Given the description of an element on the screen output the (x, y) to click on. 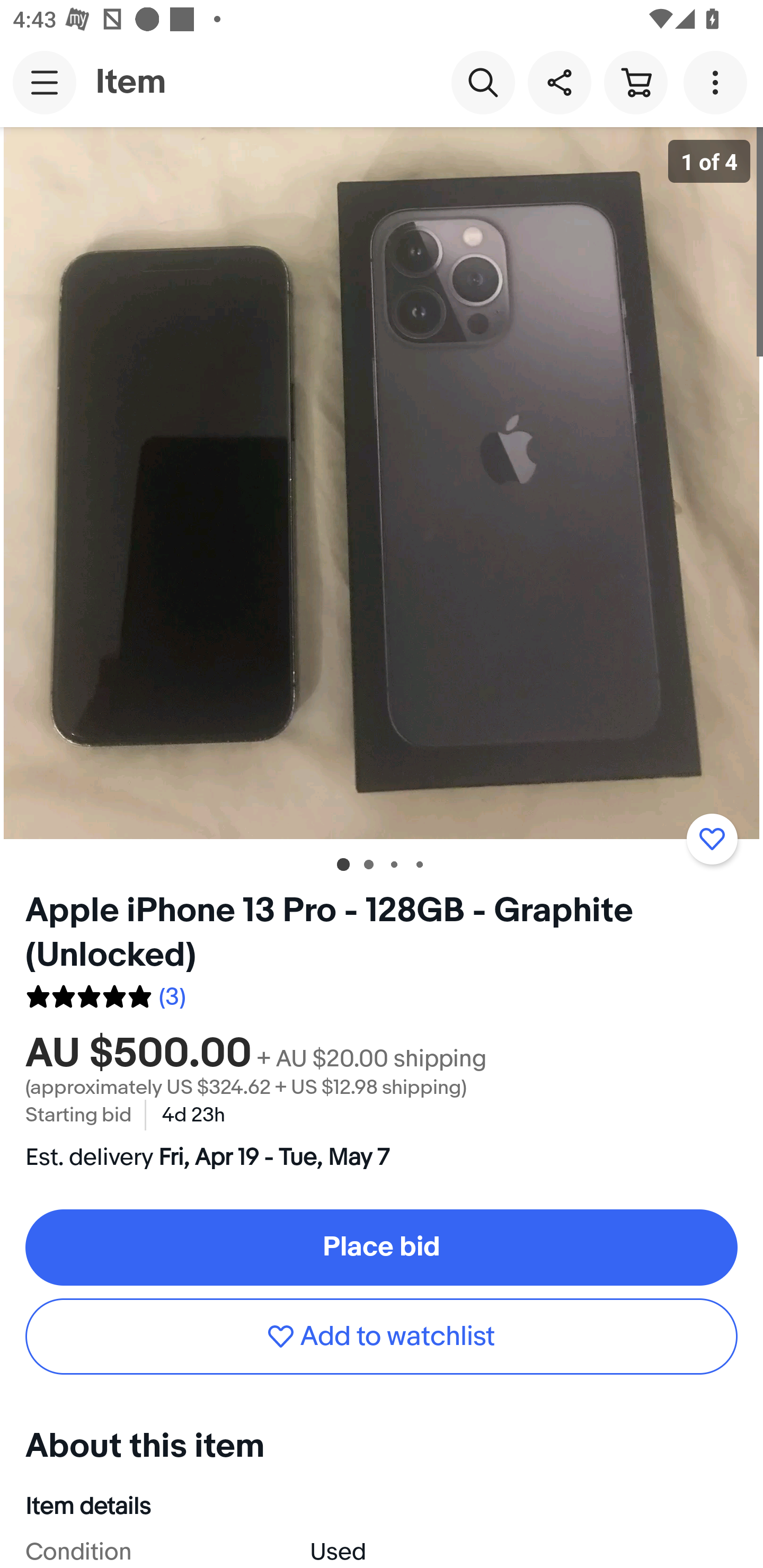
Main navigation, open (44, 82)
Search (482, 81)
Share this item (559, 81)
Cart button shopping cart (635, 81)
More options (718, 81)
Item image 1 of 4 (381, 482)
Add to watchlist (711, 838)
3 reviews. Average rating 5.0 out of five 10.0 (3) (105, 993)
Place bid (381, 1246)
Add to watchlist (381, 1336)
